Given the description of an element on the screen output the (x, y) to click on. 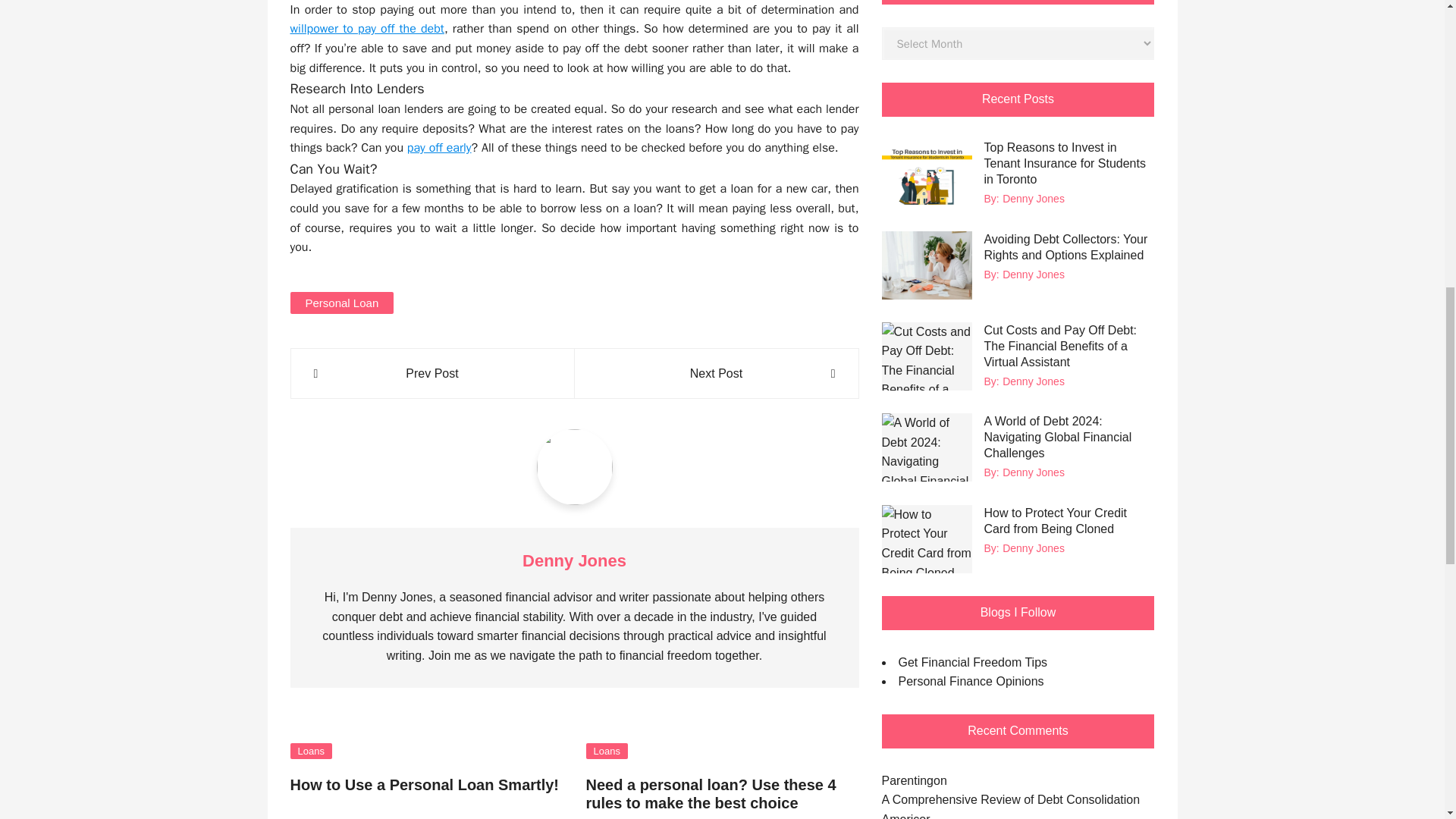
Prev Post (432, 373)
pay off early (439, 147)
Next Post (715, 373)
Personal Loan (341, 302)
Loans (310, 750)
Loans (606, 750)
How to Use a Personal Loan Smartly! (424, 784)
willpower to pay off the debt (366, 28)
